Given the description of an element on the screen output the (x, y) to click on. 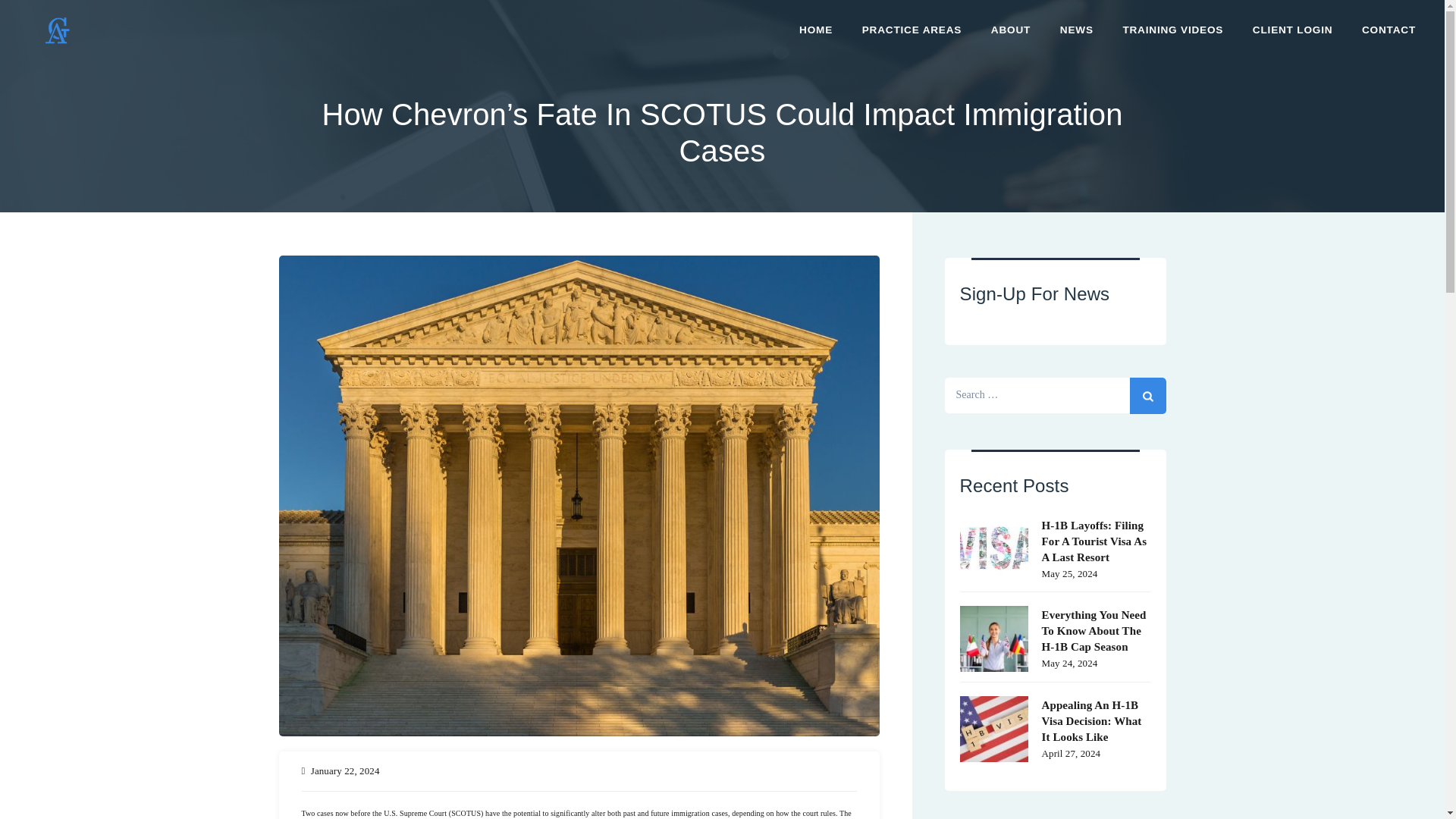
Everything You Need To Know About The H-1B Cap Season (1055, 629)
TRAINING VIDEOS (1172, 30)
H-1B Layoffs: Filing For A Tourist Visa As A Last Resort (1055, 539)
HOME (815, 30)
ABOUT (1009, 30)
January 22, 2024 (345, 770)
future immigration (680, 813)
Search (1147, 395)
NEWS (1076, 30)
PRACTICE AREAS (911, 30)
CONTACT (1388, 30)
Search (1147, 395)
Search (1147, 395)
CLIENT LOGIN (1292, 30)
